Given the description of an element on the screen output the (x, y) to click on. 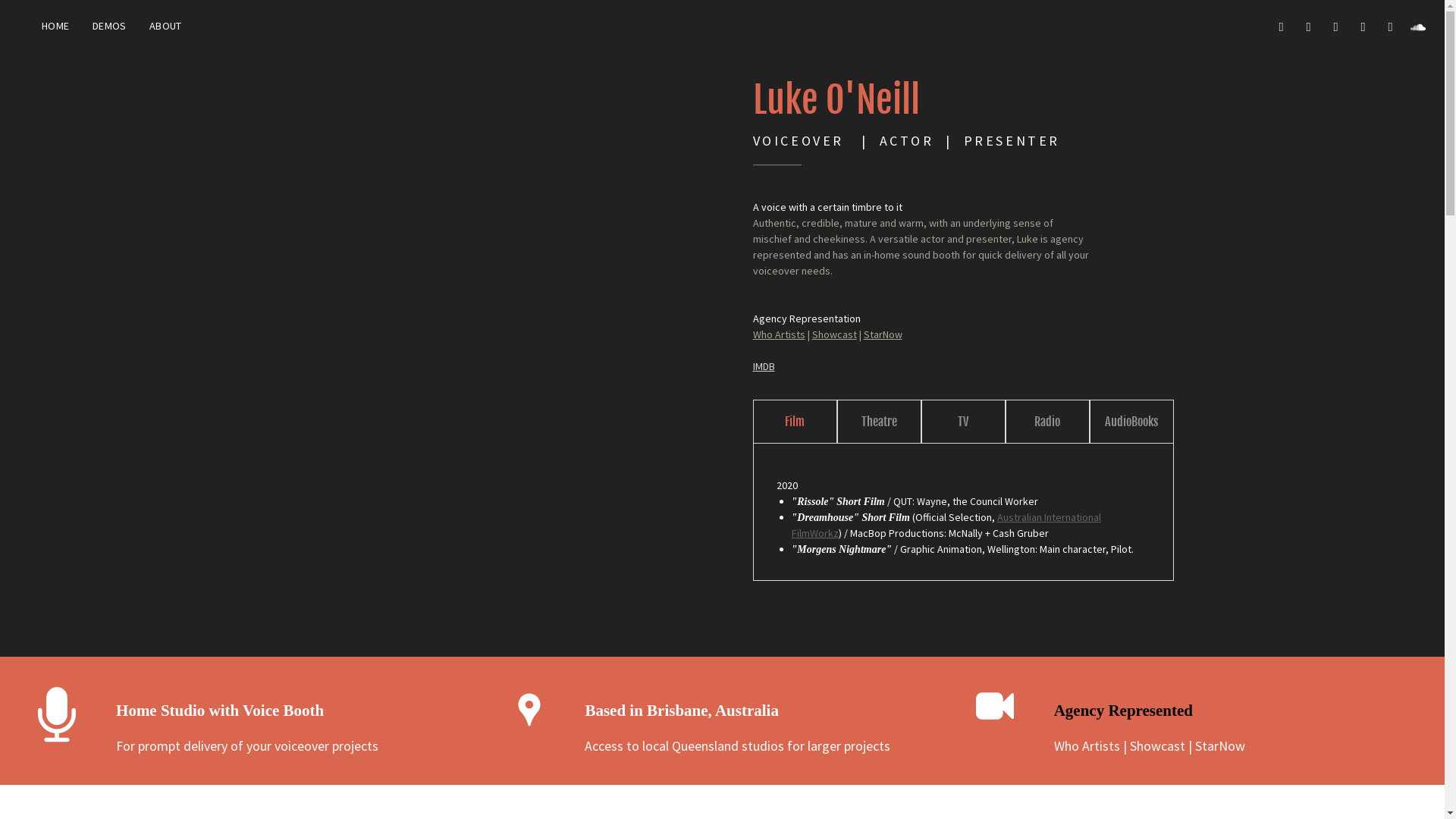
Who Artists Element type: text (778, 334)
DEMOS Element type: text (109, 25)
Who Artists Element type: text (1087, 745)
IMDB Element type: text (763, 366)
Voiceover Actor TV Radio Presenter Element type: hover (529, 705)
Showcast Element type: text (833, 334)
Australian International FilmWorkz Element type: text (946, 524)
HOME Element type: text (55, 25)
Showcast Element type: text (1157, 745)
StarNow Element type: text (1220, 745)
ABOUT Element type: text (165, 25)
Agency Represented Who Artists Showcast StarNow Element type: hover (994, 705)
StarNow Element type: text (881, 334)
Luke On-Air Voiceover Actor TV Radio Presenter Element type: hover (56, 705)
